Given the description of an element on the screen output the (x, y) to click on. 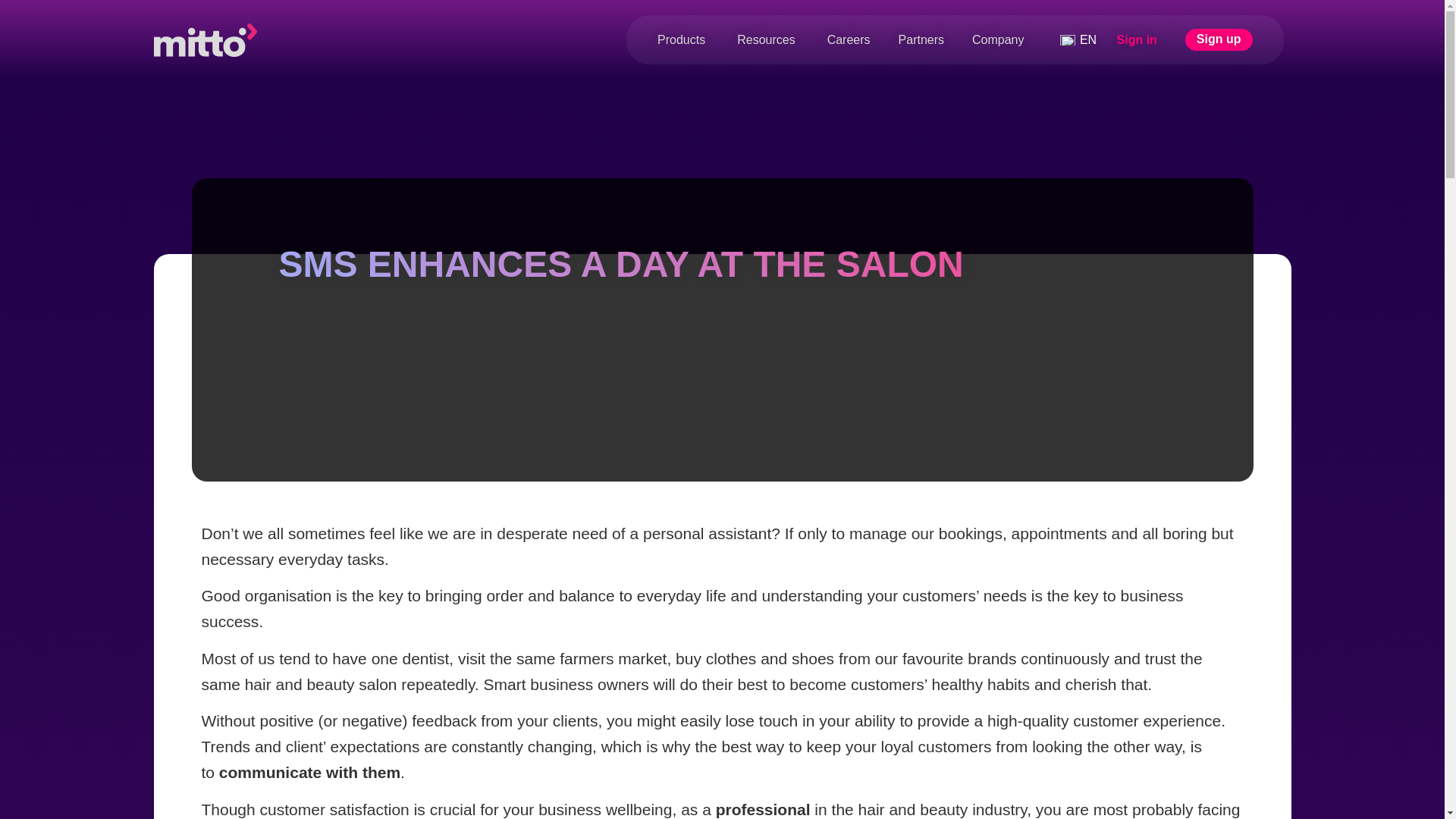
Sign up (1218, 39)
Partners (920, 39)
EN (1146, 39)
Company (997, 39)
Sign in (1136, 39)
Careers (848, 39)
